Given the description of an element on the screen output the (x, y) to click on. 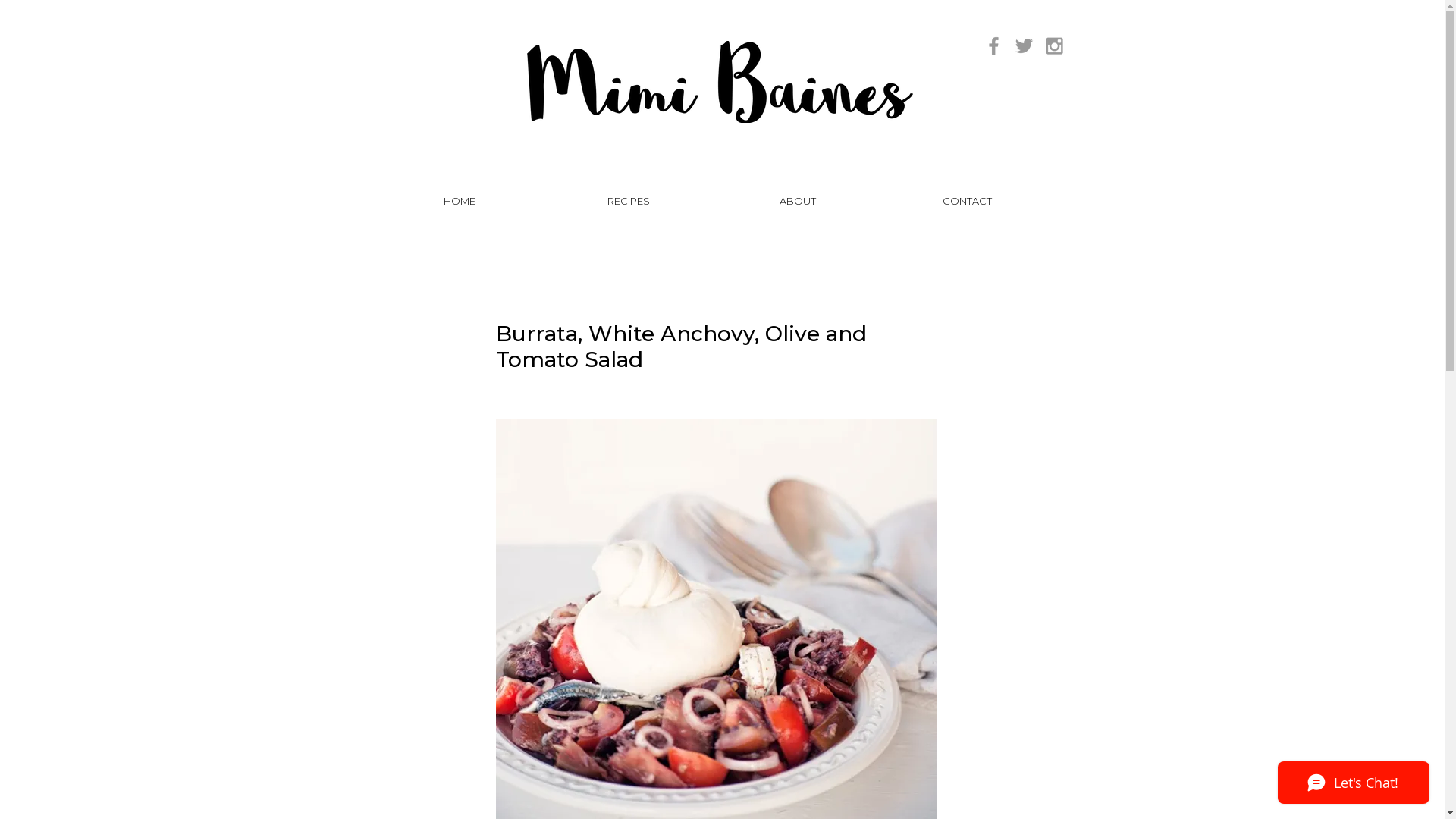
RECIPES Element type: text (628, 200)
ABOUT Element type: text (796, 200)
HOME Element type: text (458, 200)
CONTACT Element type: text (966, 200)
